Given the description of an element on the screen output the (x, y) to click on. 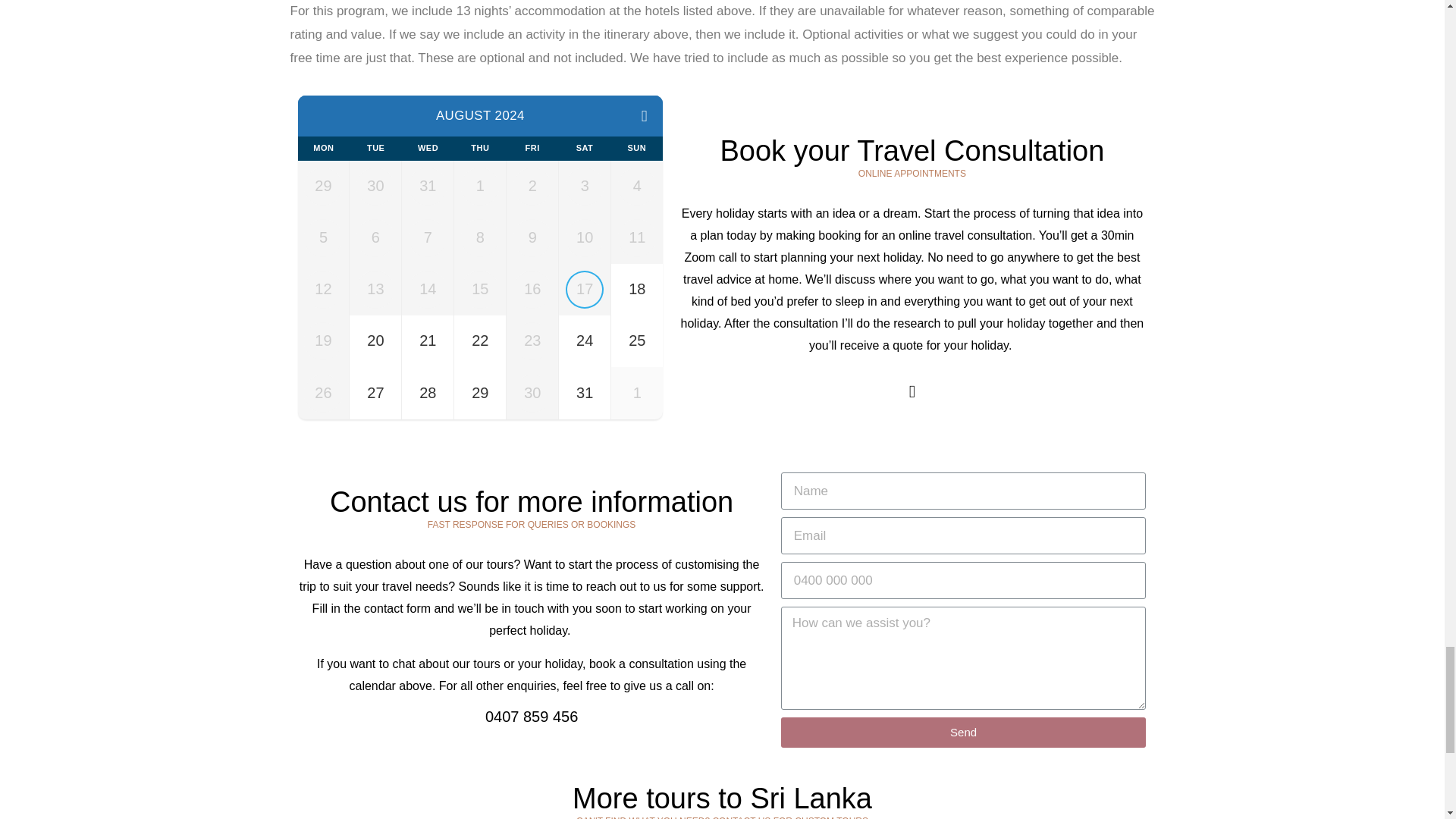
3 Available (426, 392)
Send (963, 732)
11 Available (584, 340)
2 Available (636, 340)
2 Available (636, 289)
3 Available (479, 392)
11 Available (584, 392)
3 Available (375, 340)
2 Available (479, 340)
3 Available (375, 392)
